Given the description of an element on the screen output the (x, y) to click on. 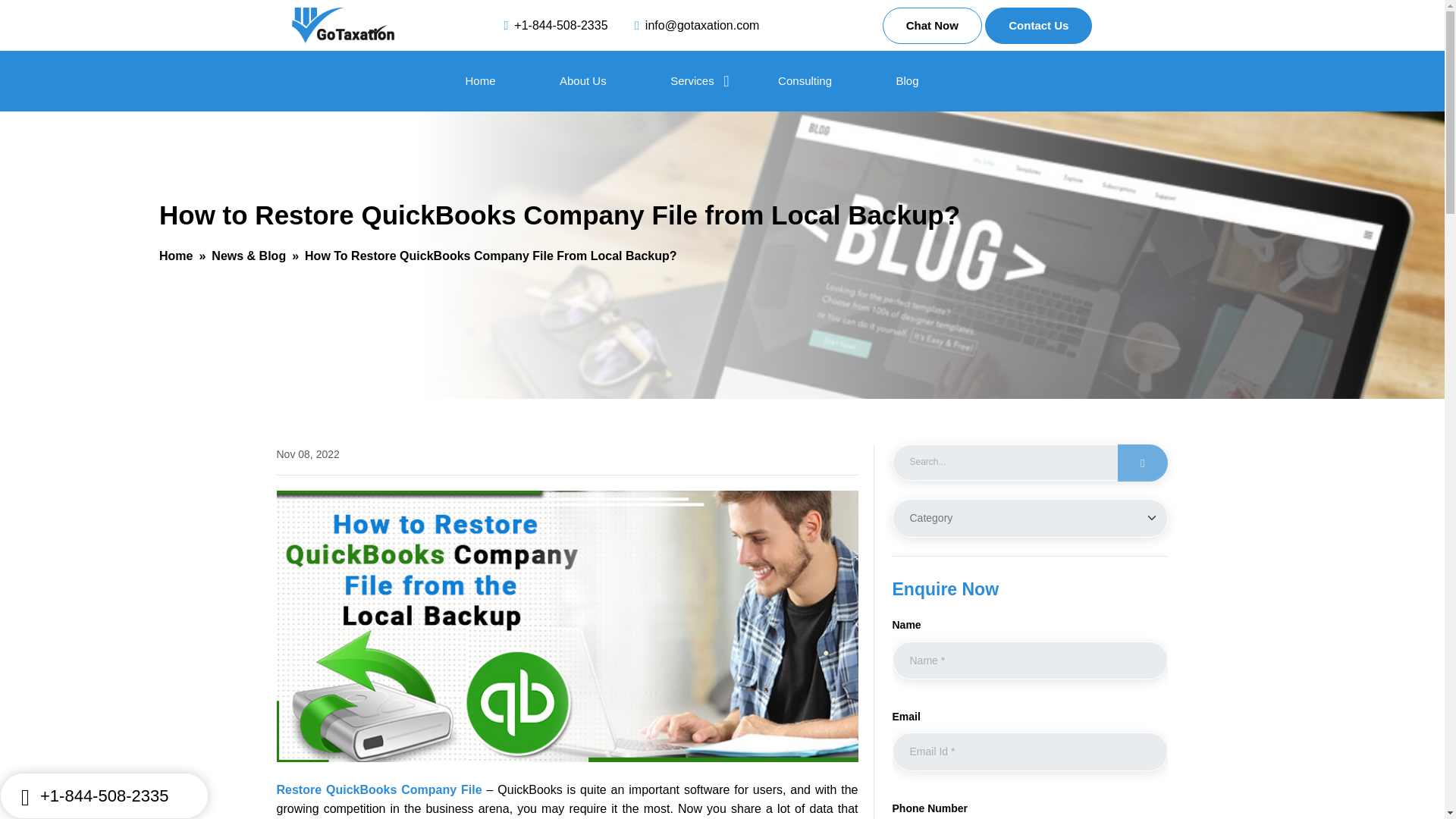
About Us (583, 80)
Consulting (804, 80)
Home (175, 255)
Services (691, 80)
Home (480, 80)
Chat Now (931, 25)
Restore QuickBooks Company File (378, 789)
Blog (906, 80)
Contact Us (1038, 25)
